Given the description of an element on the screen output the (x, y) to click on. 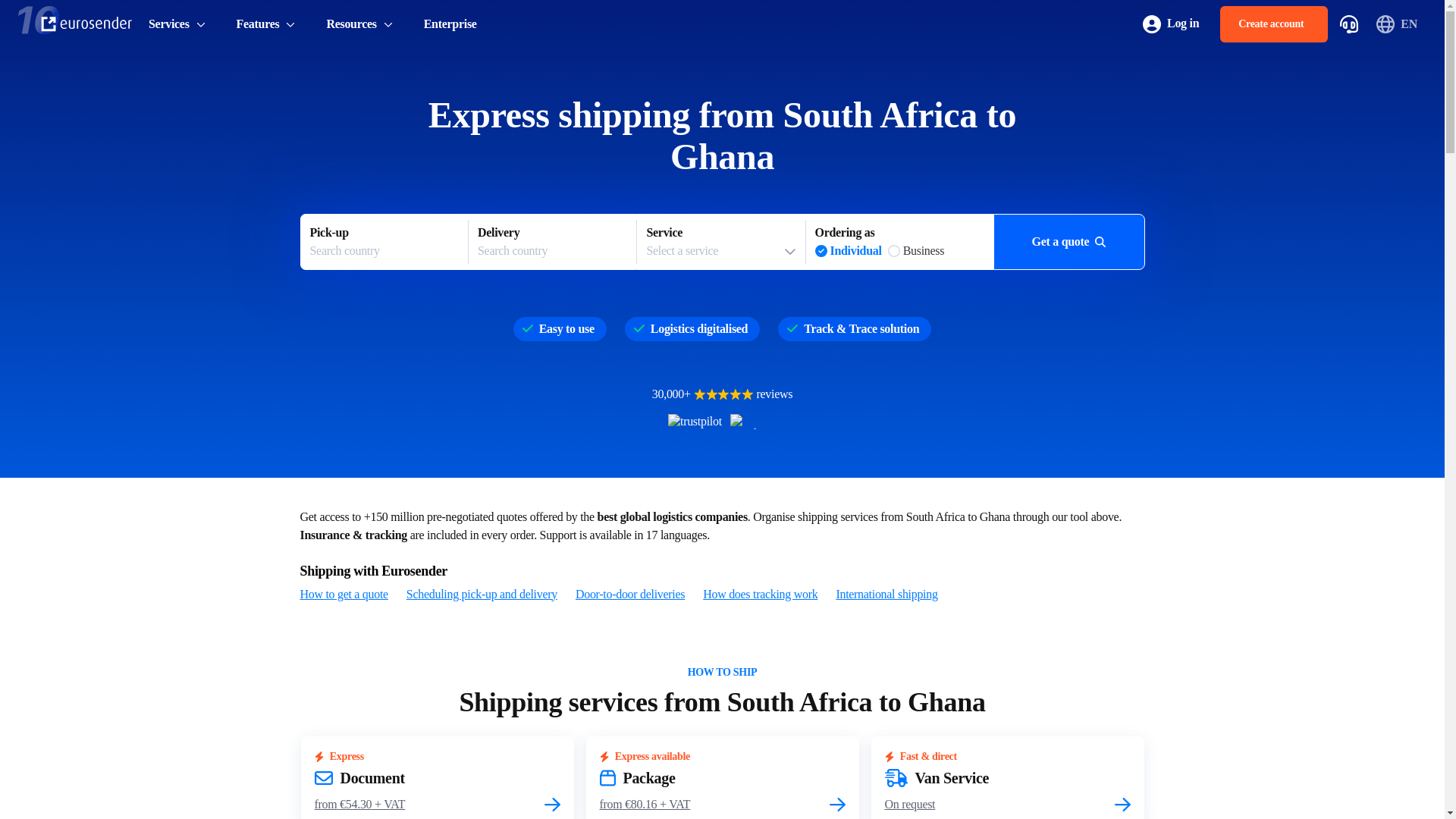
Services (721, 241)
Features (177, 23)
EN (266, 23)
Resources (551, 241)
How does tracking work (1398, 23)
International shipping (359, 23)
Get a quote (759, 594)
